Given the description of an element on the screen output the (x, y) to click on. 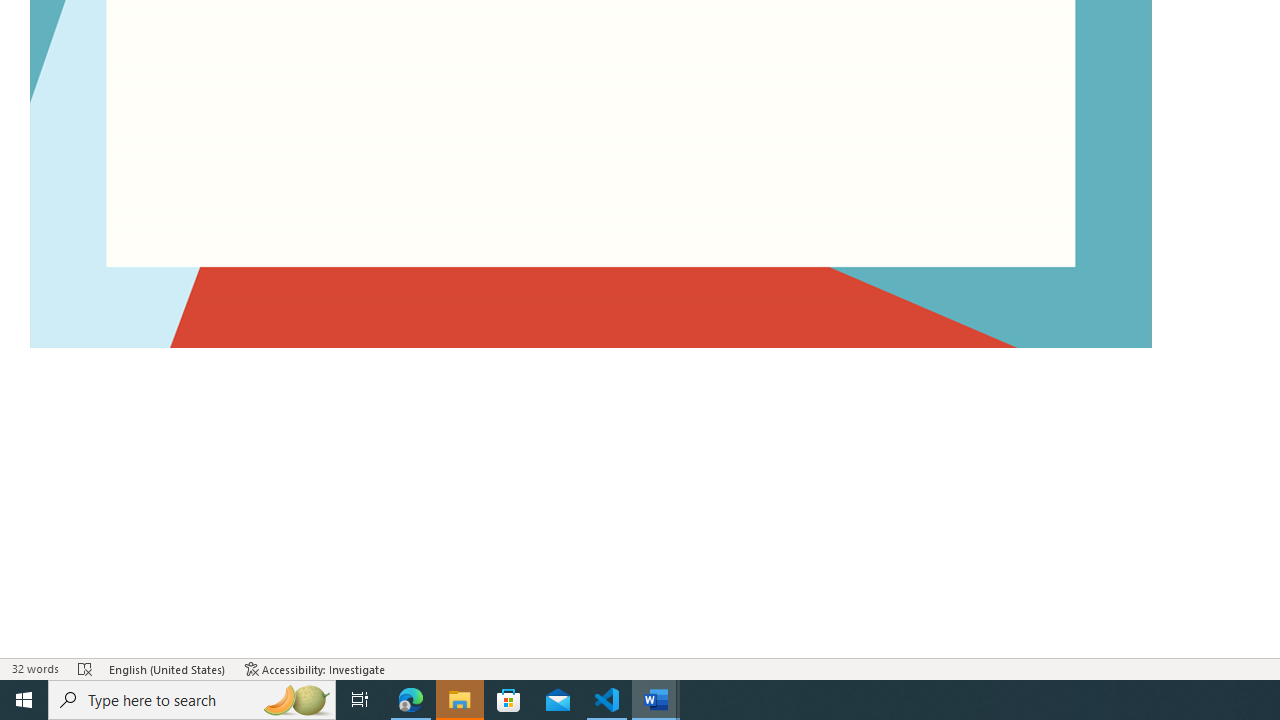
Spelling and Grammar Check Errors (86, 668)
Word Count 32 words (34, 668)
